Given the description of an element on the screen output the (x, y) to click on. 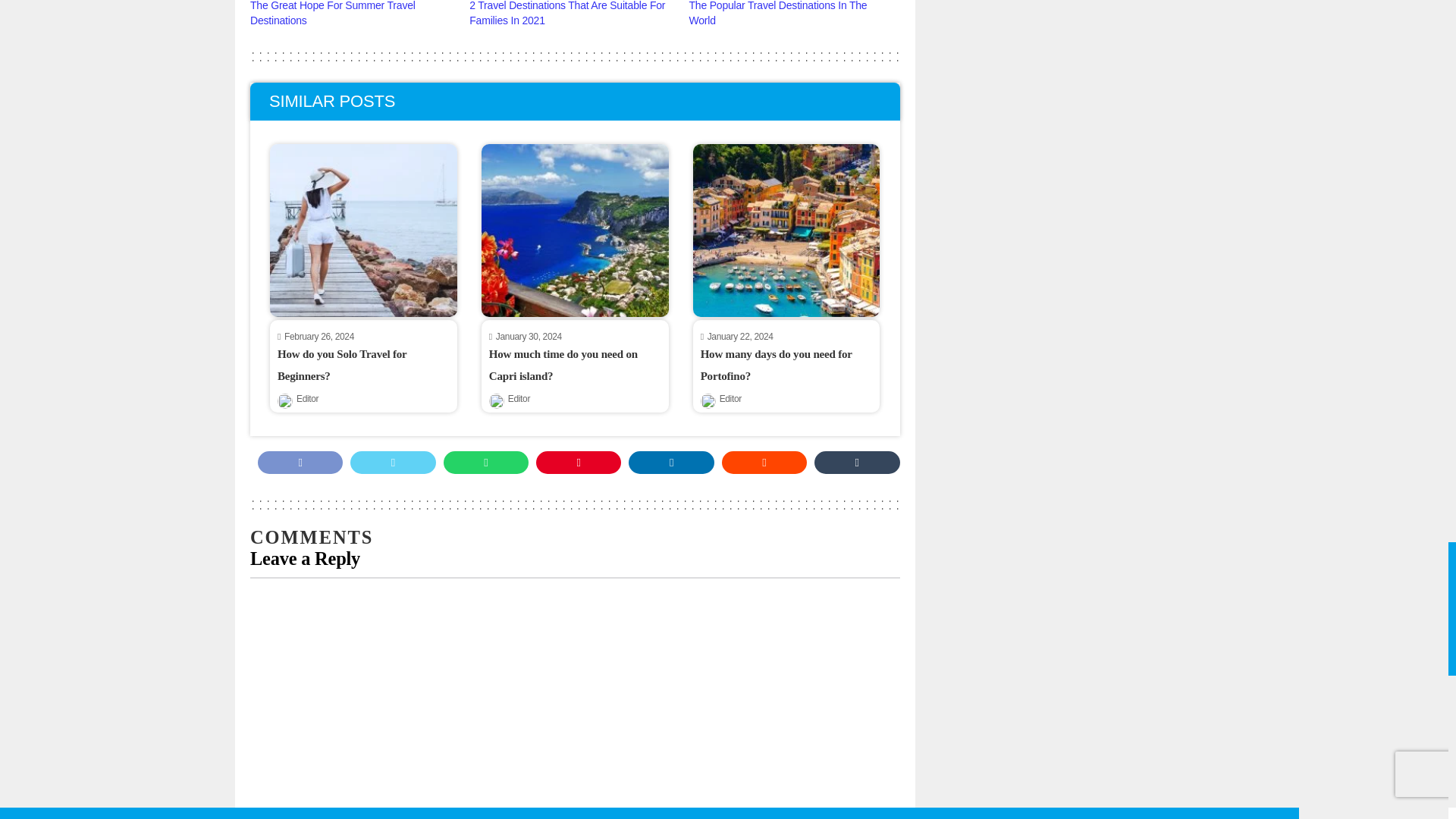
2 Travel Destinations That Are Suitable For Families In 2021 (566, 13)
The Great Hope For Summer Travel Destinations (332, 13)
